Given the description of an element on the screen output the (x, y) to click on. 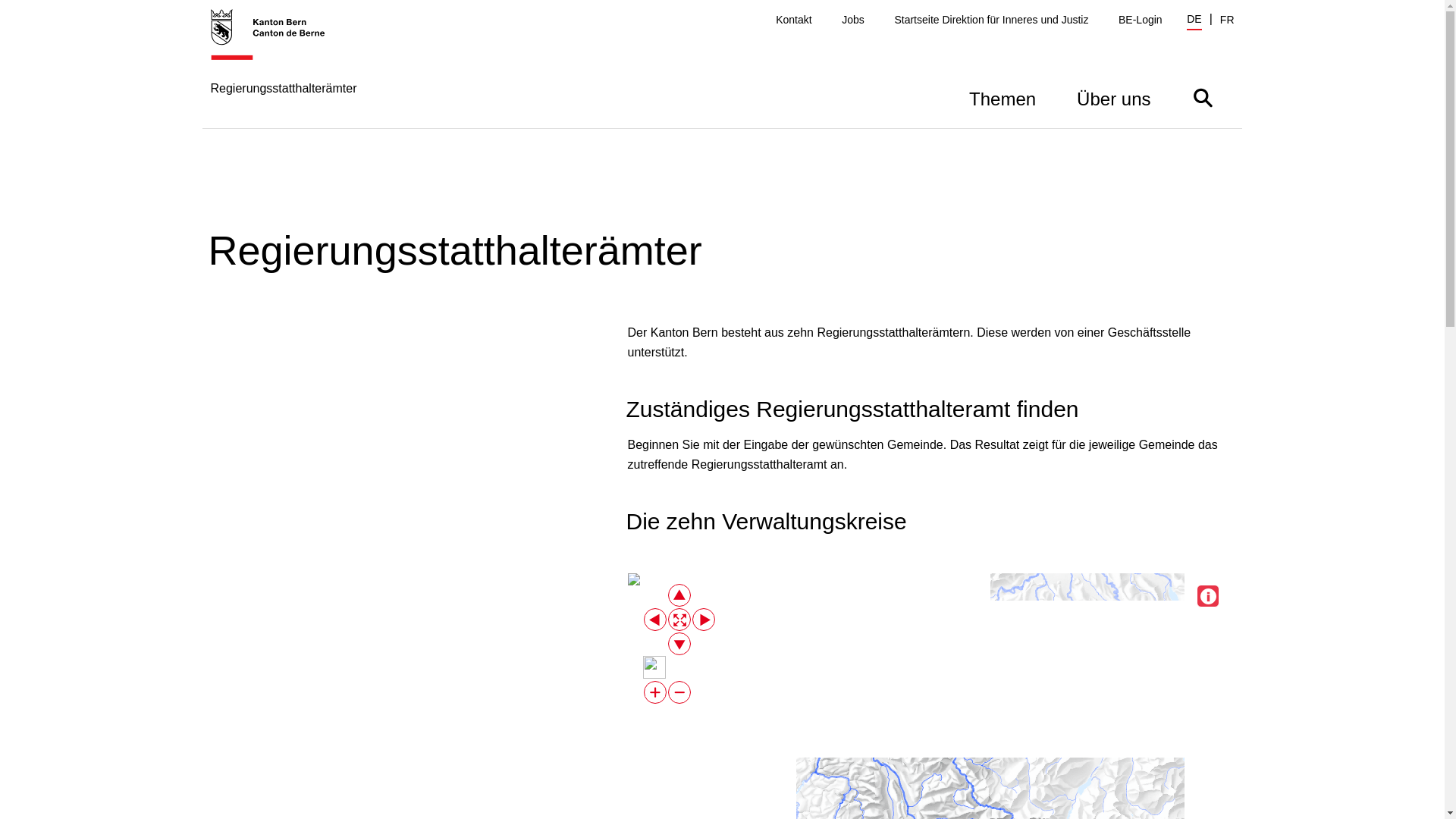
DE Element type: text (1193, 21)
FR Element type: text (1227, 19)
Suche ein- oder ausblenden Element type: text (1201, 96)
Kontakt Element type: text (793, 19)
Themen Element type: text (1002, 96)
BE-Login Element type: text (1140, 19)
Jobs Element type: text (852, 19)
